Given the description of an element on the screen output the (x, y) to click on. 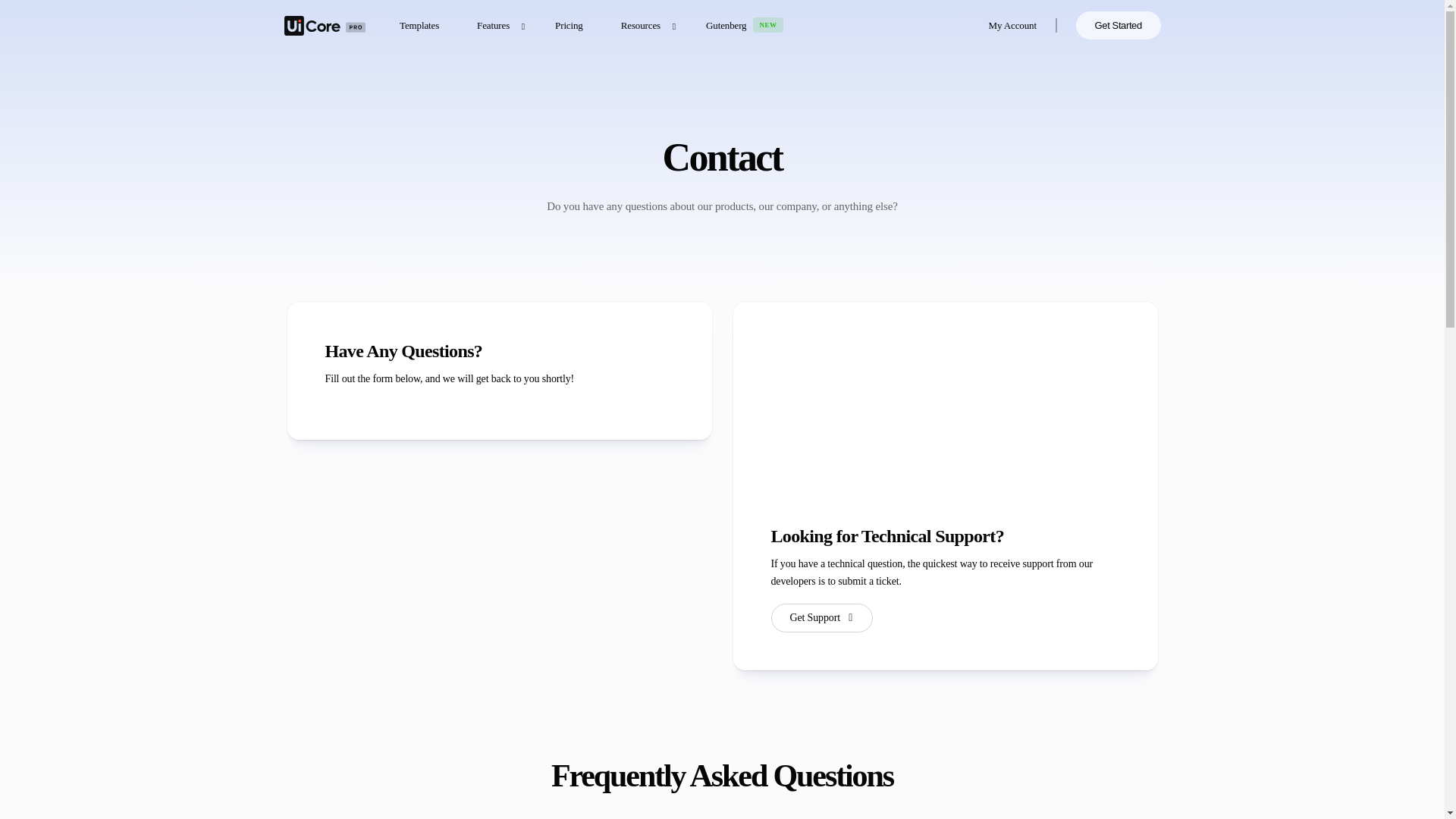
Get Started (1117, 25)
Resources (644, 25)
Get Support (821, 617)
Templates (419, 25)
Pricing (568, 25)
My Account (1012, 25)
GutenbergNEW (744, 25)
Features (496, 25)
